Given the description of an element on the screen output the (x, y) to click on. 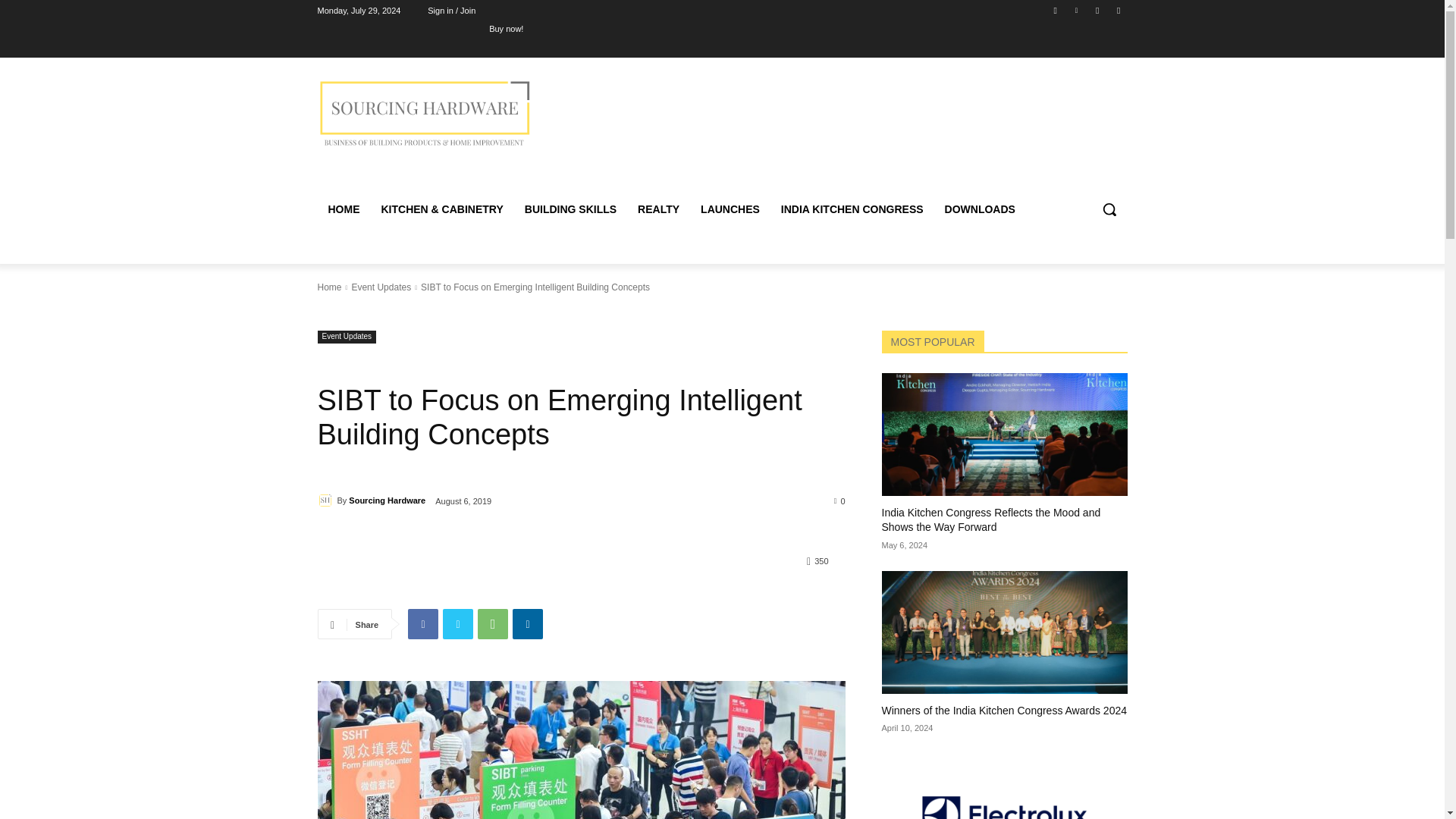
Event Updates (346, 336)
DOWNLOADS (980, 208)
Event Updates (380, 286)
Facebook (422, 624)
HOME (343, 208)
INDIA KITCHEN CONGRESS (852, 208)
View all posts in Event Updates (380, 286)
LAUNCHES (730, 208)
REALTY (658, 208)
0 (839, 500)
Sourcing Hardware (326, 500)
Facebook (1055, 9)
Linkedin (1075, 9)
BUILDING SKILLS (570, 208)
Home (328, 286)
